Given the description of an element on the screen output the (x, y) to click on. 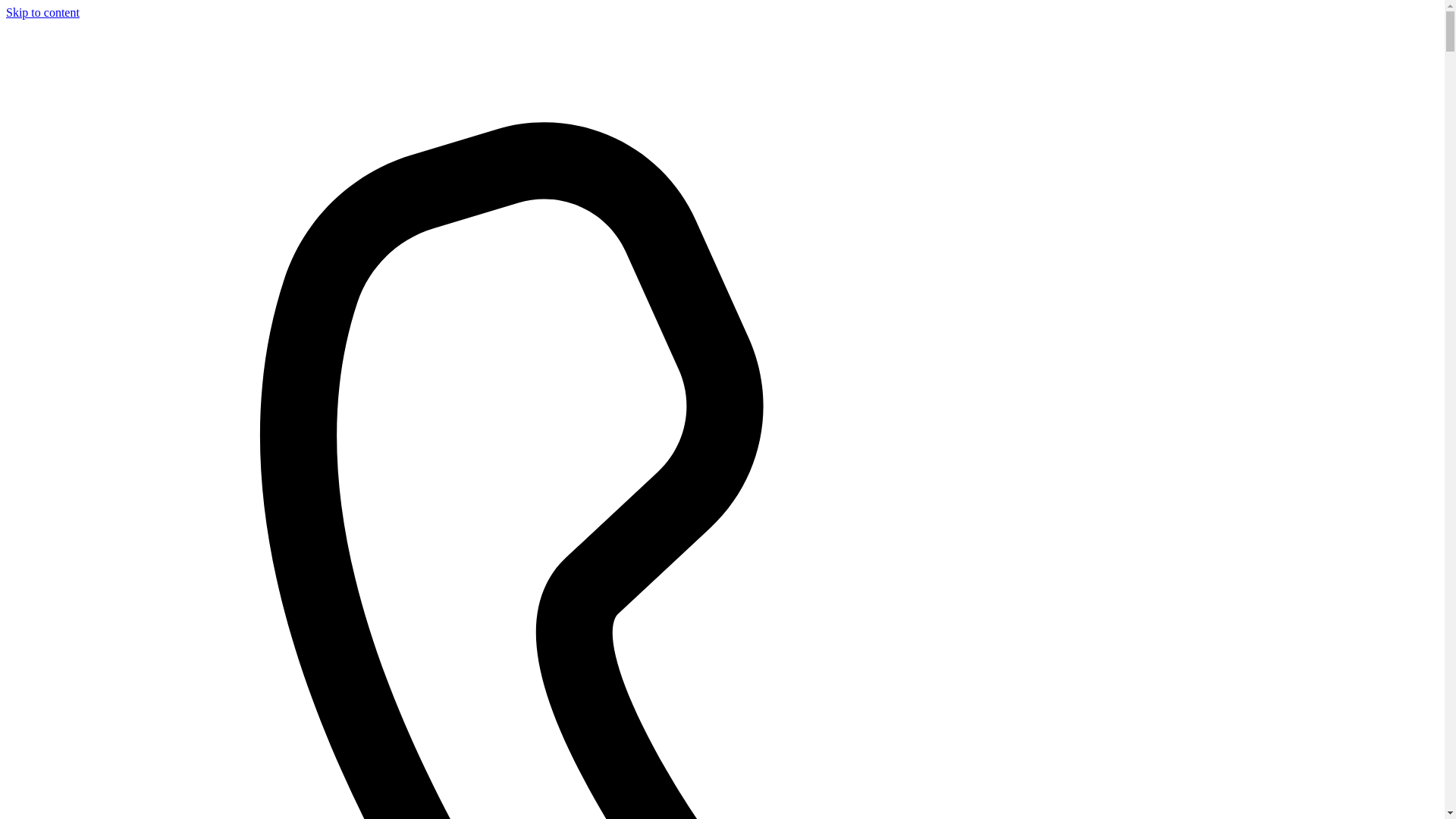
Skip to content (42, 11)
